Given the description of an element on the screen output the (x, y) to click on. 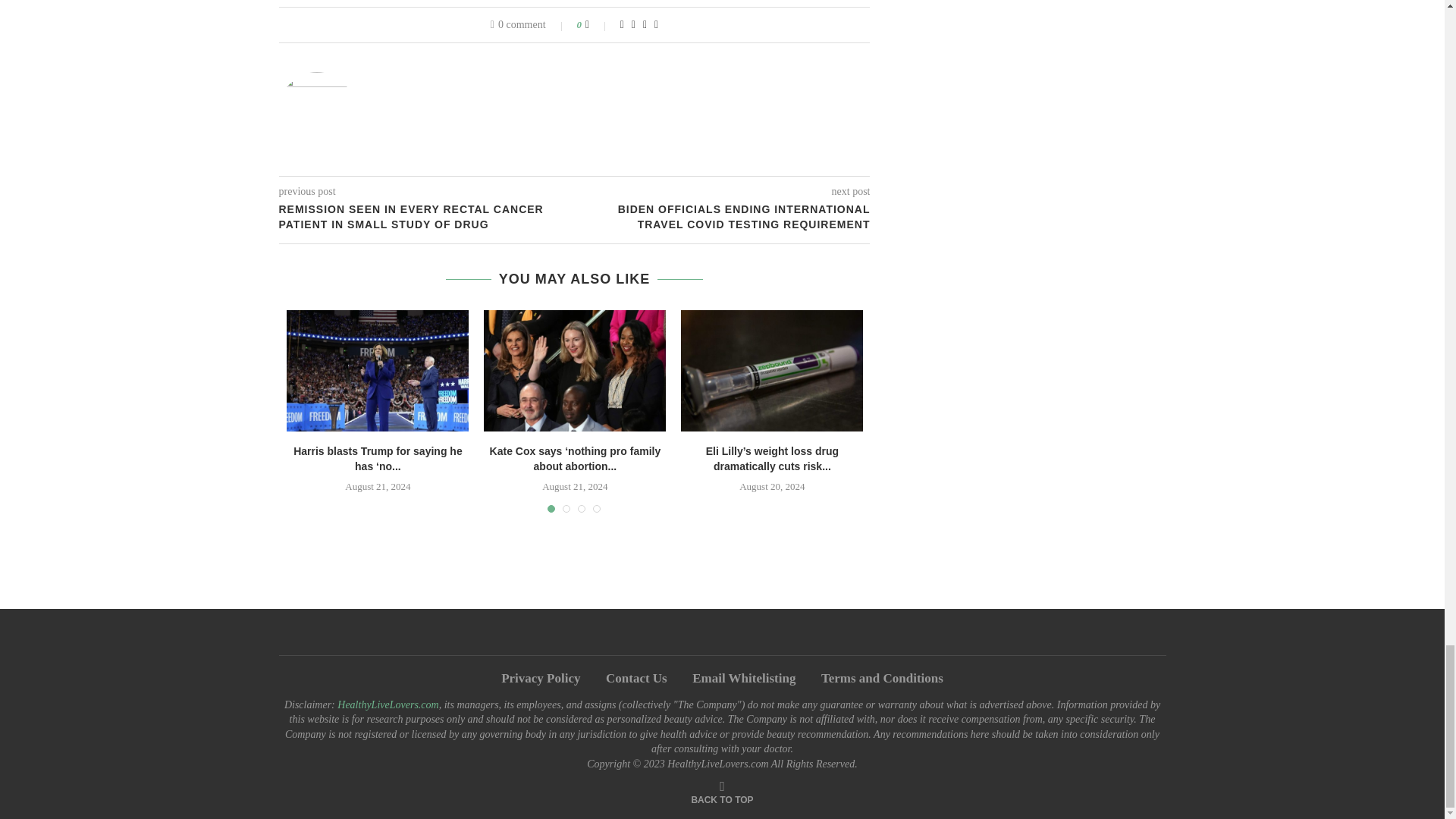
Like (597, 24)
